Given the description of an element on the screen output the (x, y) to click on. 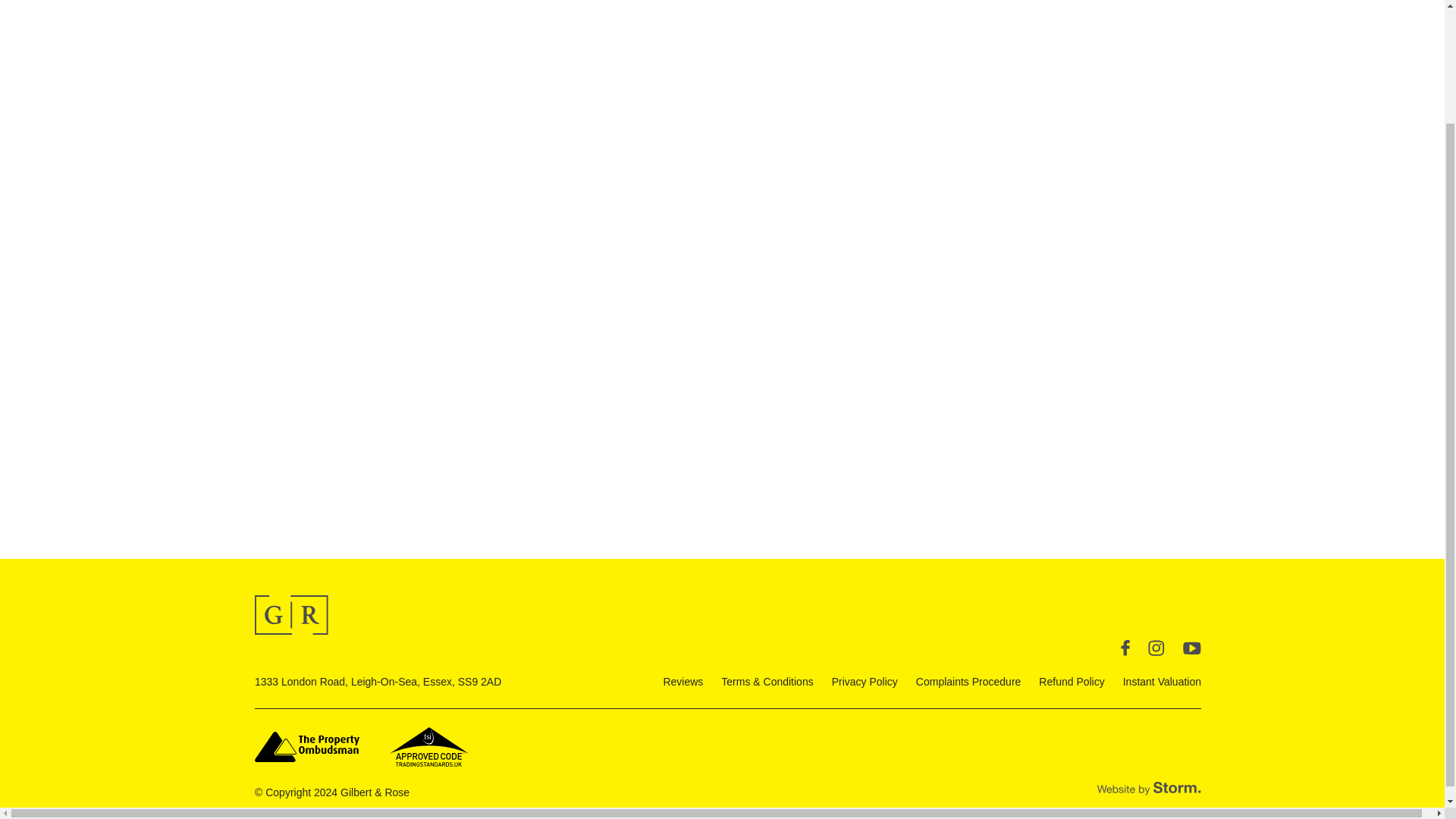
Website by Storm Creative (1149, 788)
View Reviews (682, 682)
Instant Valuation (1161, 682)
Complaints Procedure (968, 682)
Refund Policy (1071, 682)
Privacy Policy (864, 682)
View Homepage (291, 614)
Reviews (682, 682)
